Given the description of an element on the screen output the (x, y) to click on. 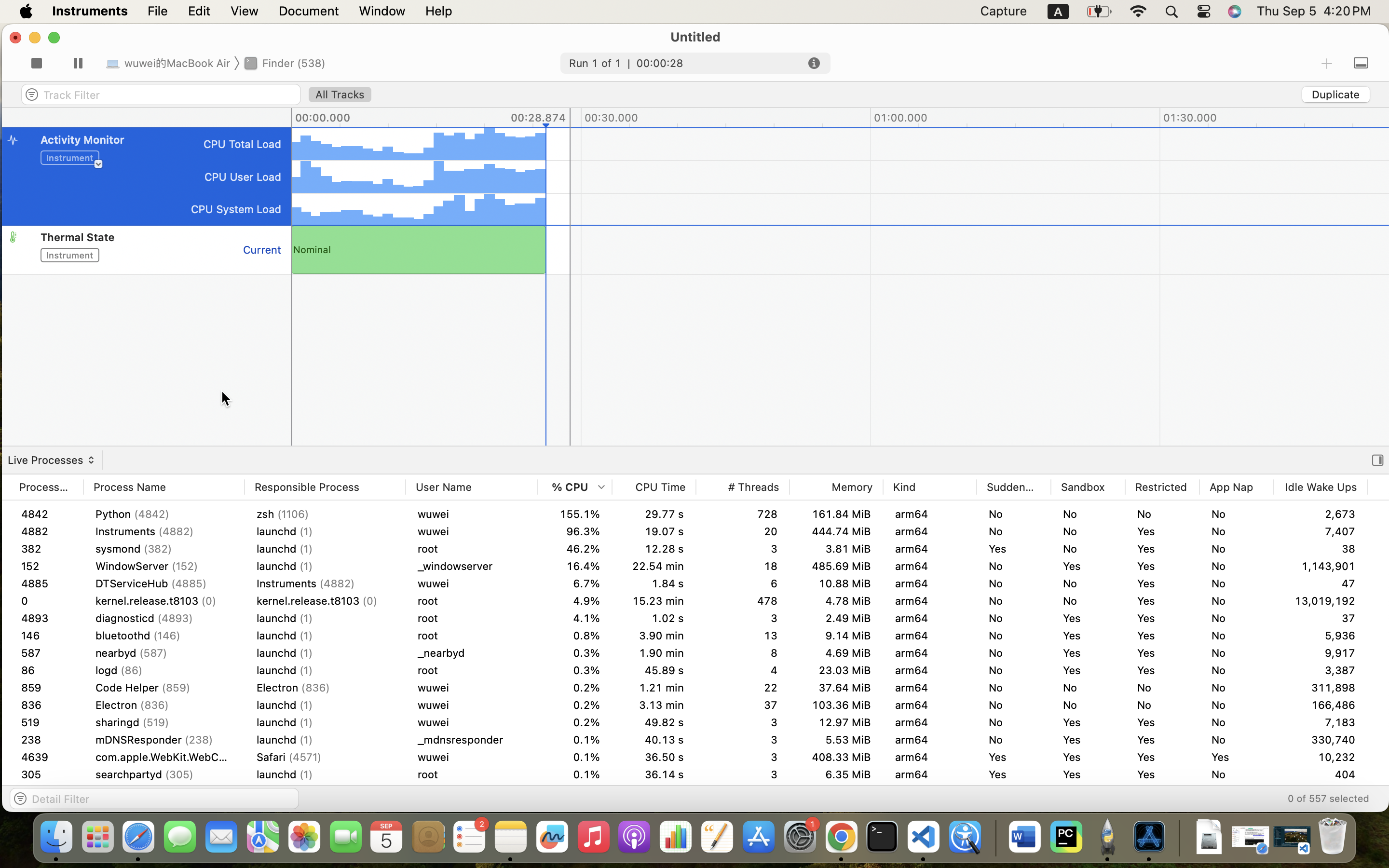
Instruments (4882) Element type: AXStaticText (324, 670)
52.29 s Element type: AXStaticText (653, 722)
127 Element type: AXStaticText (46, 756)
123.10 MiB Element type: AXStaticText (835, 513)
No Element type: AXStaticText (1236, 652)
